Given the description of an element on the screen output the (x, y) to click on. 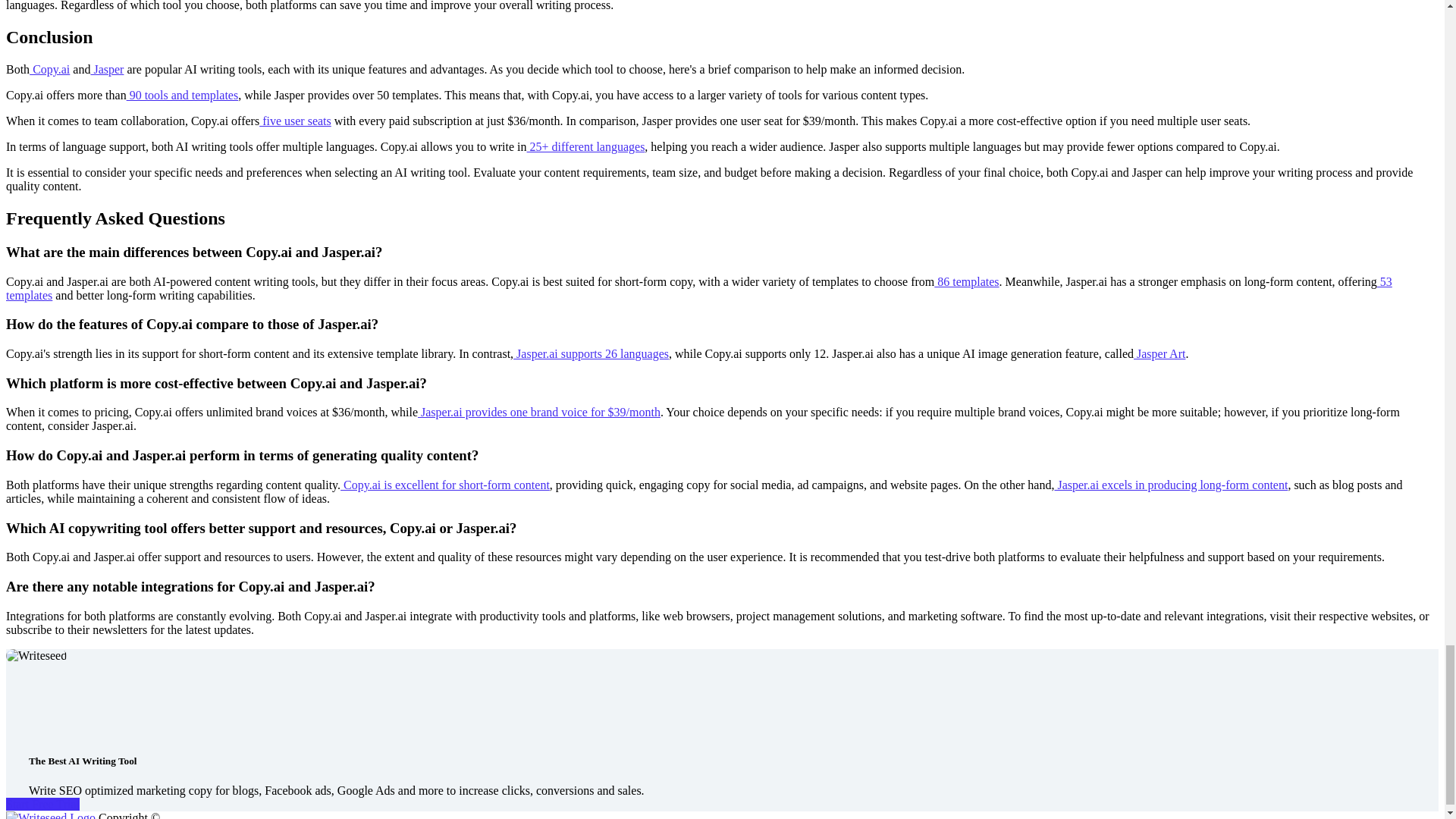
 Copy.ai is excellent for short-form content (445, 484)
 Jasper (106, 69)
 five user seats (295, 120)
 90 tools and templates (182, 94)
Start Free Trial (42, 803)
 Jasper.ai excels in producing long-form content (1170, 484)
 86 templates (966, 280)
 53 templates (698, 287)
 Jasper.ai supports 26 languages (590, 353)
 Copy.ai (49, 69)
 Jasper Art (1159, 353)
